Given the description of an element on the screen output the (x, y) to click on. 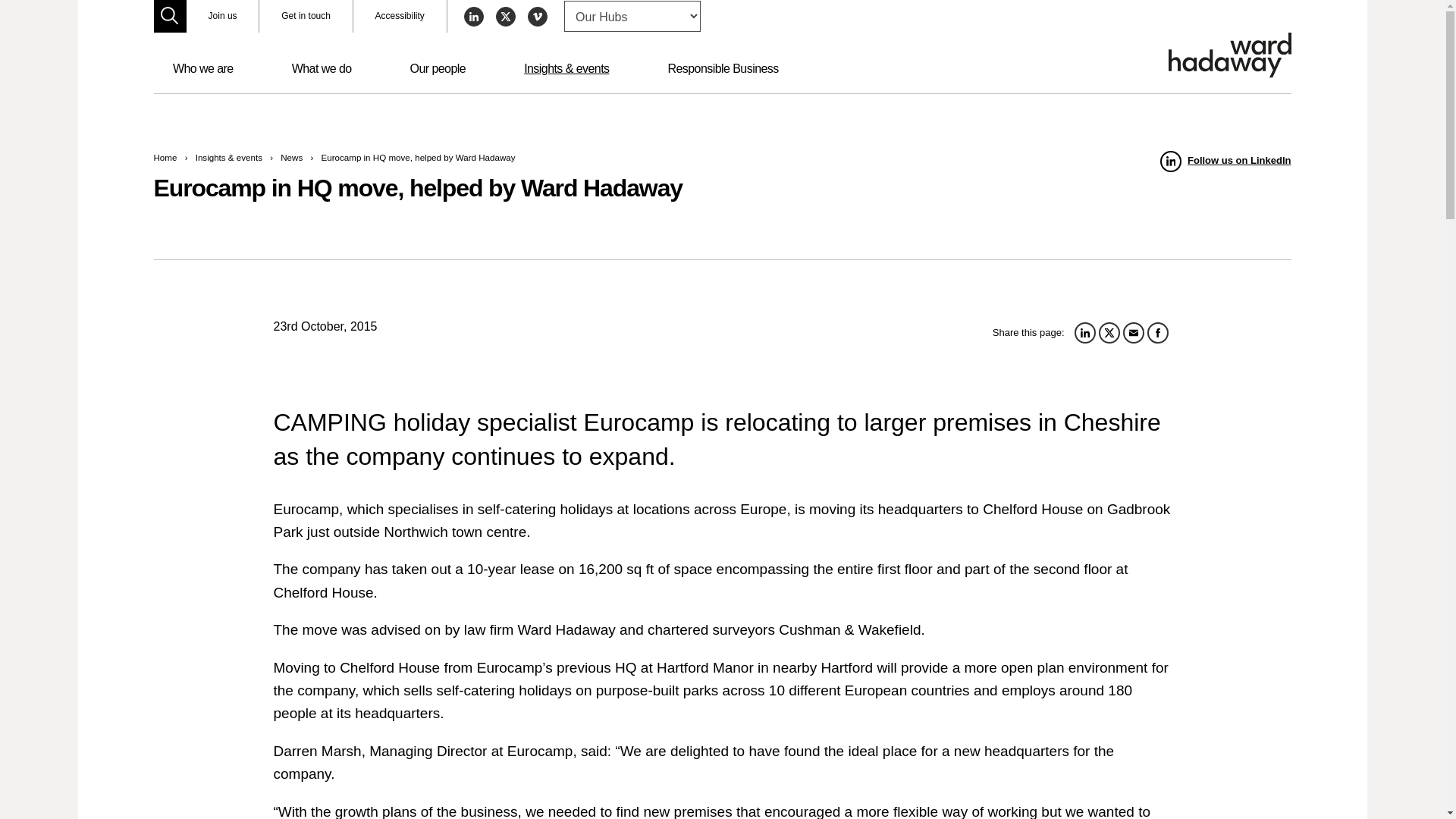
Get in touch (305, 16)
Share this article on twitter (1108, 332)
Follow Ward Hadaway on Vimeo (537, 16)
Responsible Business (722, 68)
Return to the Ward Hadaway homepage (1228, 54)
Accessibility (399, 16)
Our people (437, 68)
Join us (222, 16)
What we do (321, 68)
Share this article on LinkedIn (1084, 332)
